Given the description of an element on the screen output the (x, y) to click on. 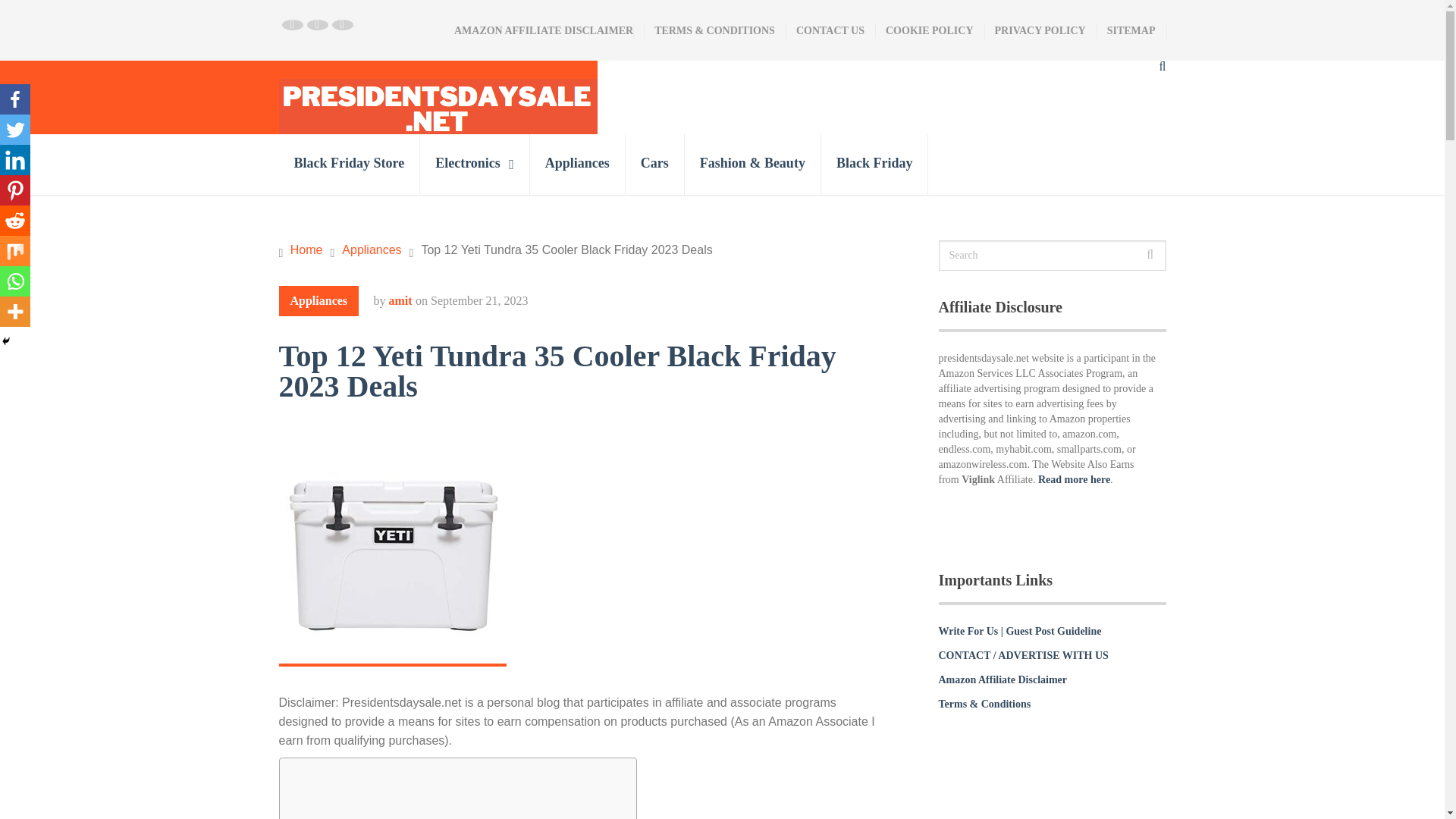
Home (306, 249)
Posts by amit (400, 300)
Advertisement (453, 795)
Cars (655, 164)
View all posts in Appliances (319, 300)
Appliances (319, 300)
amit (400, 300)
Black Friday Store (349, 164)
CONTACT US (830, 29)
Black Friday (874, 164)
Appliances (371, 249)
Appliances (577, 164)
Electronics (474, 164)
COOKIE POLICY (929, 29)
SITEMAP (1131, 29)
